Given the description of an element on the screen output the (x, y) to click on. 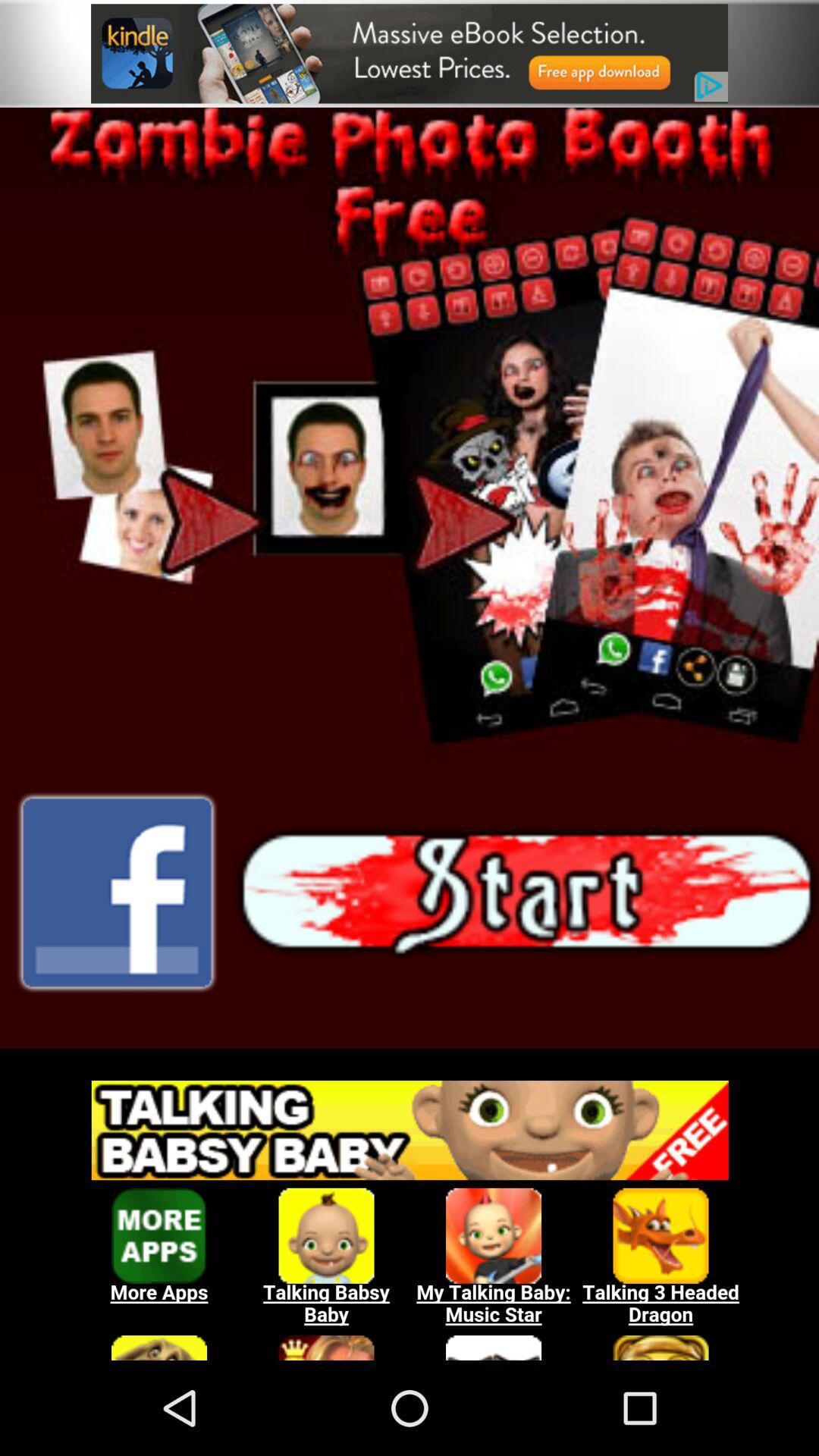
ask advertisement select (409, 1212)
